Given the description of an element on the screen output the (x, y) to click on. 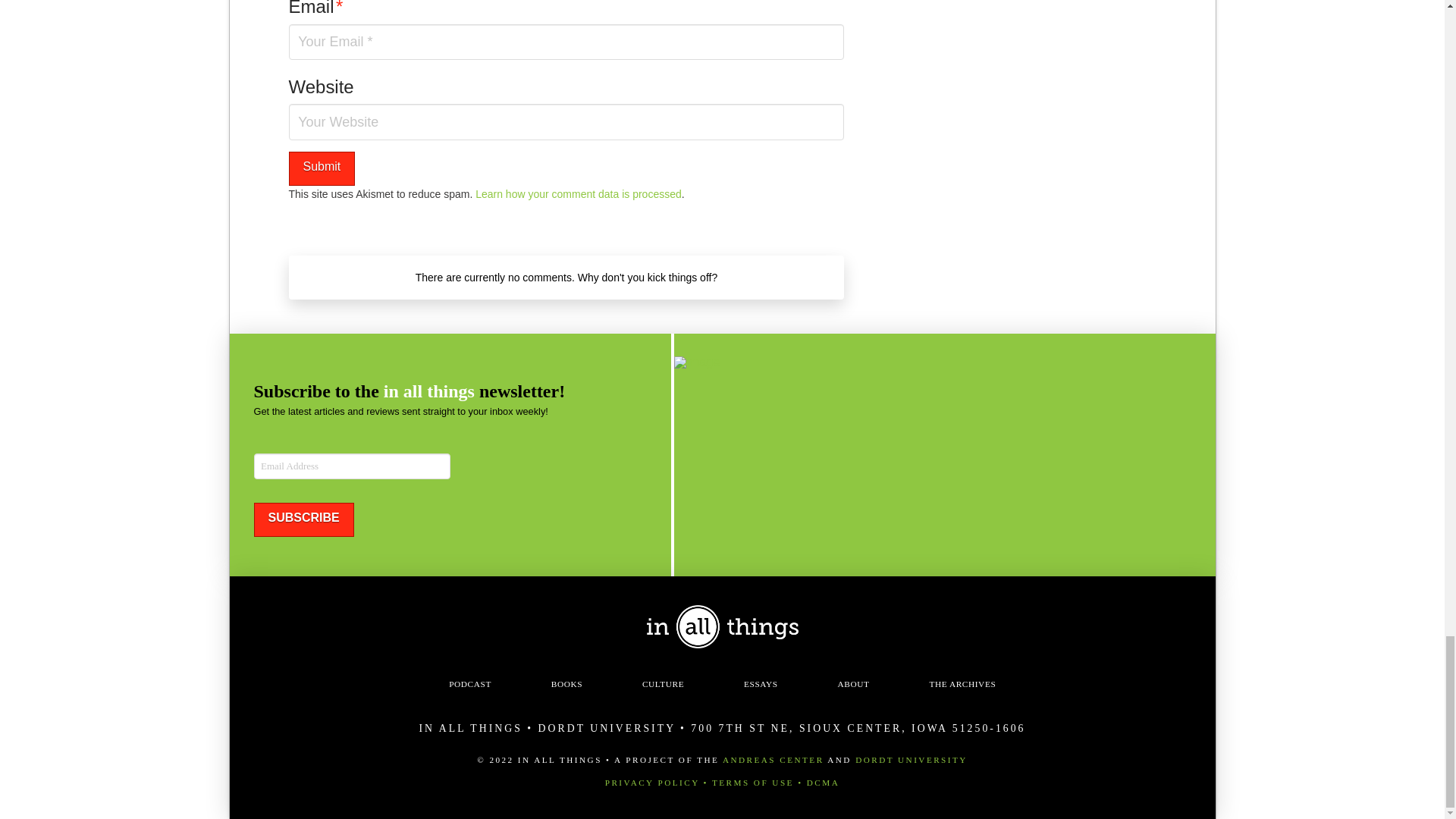
SUBSCRIBE (303, 519)
Submit (321, 168)
